Given the description of an element on the screen output the (x, y) to click on. 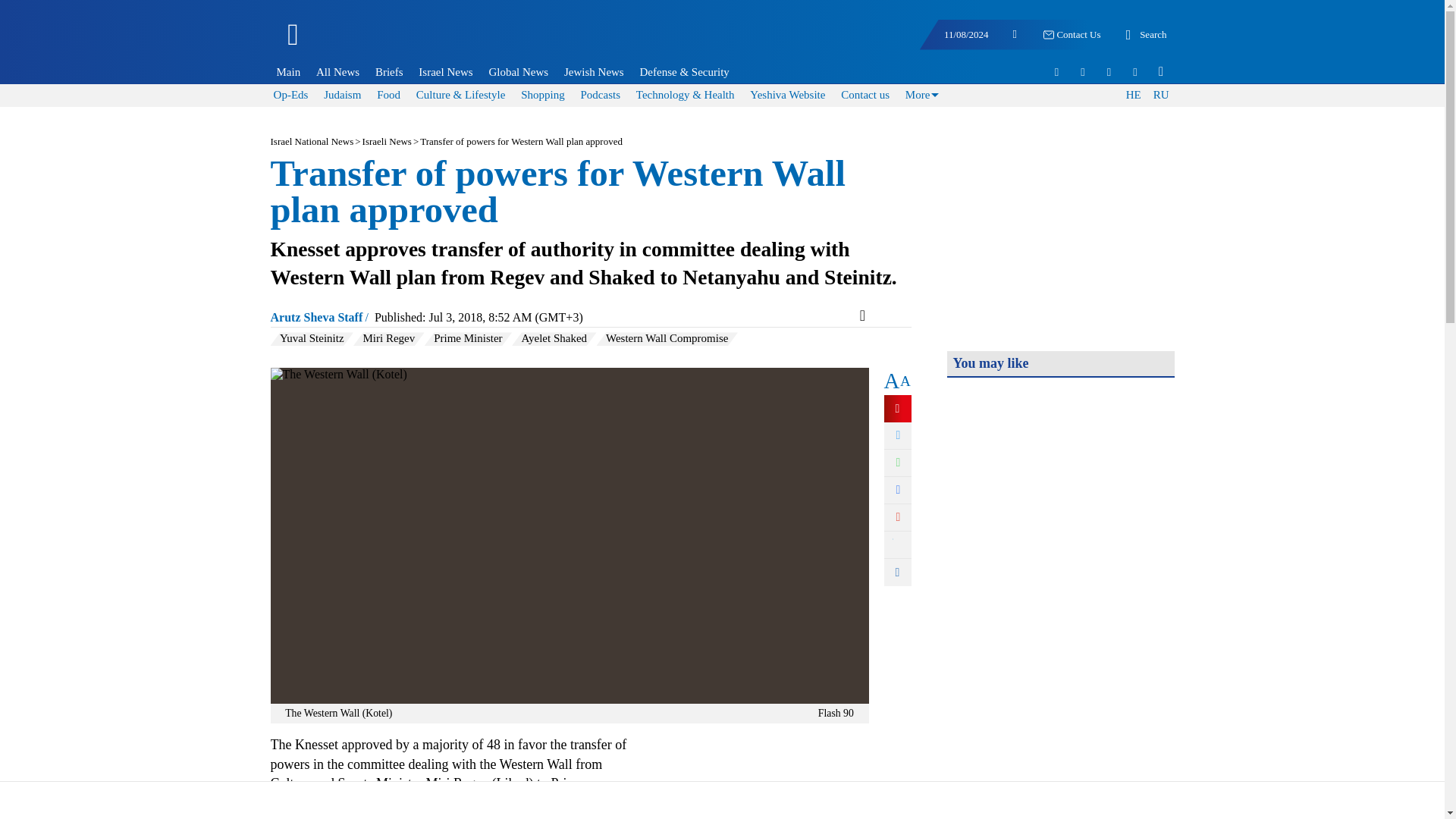
Global News (518, 71)
Jewish News (593, 71)
Judaism (342, 94)
Op-Eds (290, 94)
Main (287, 71)
Search (1143, 34)
Israel National News (311, 141)
Israel News (445, 71)
Shopping (542, 94)
Food (388, 94)
